Given the description of an element on the screen output the (x, y) to click on. 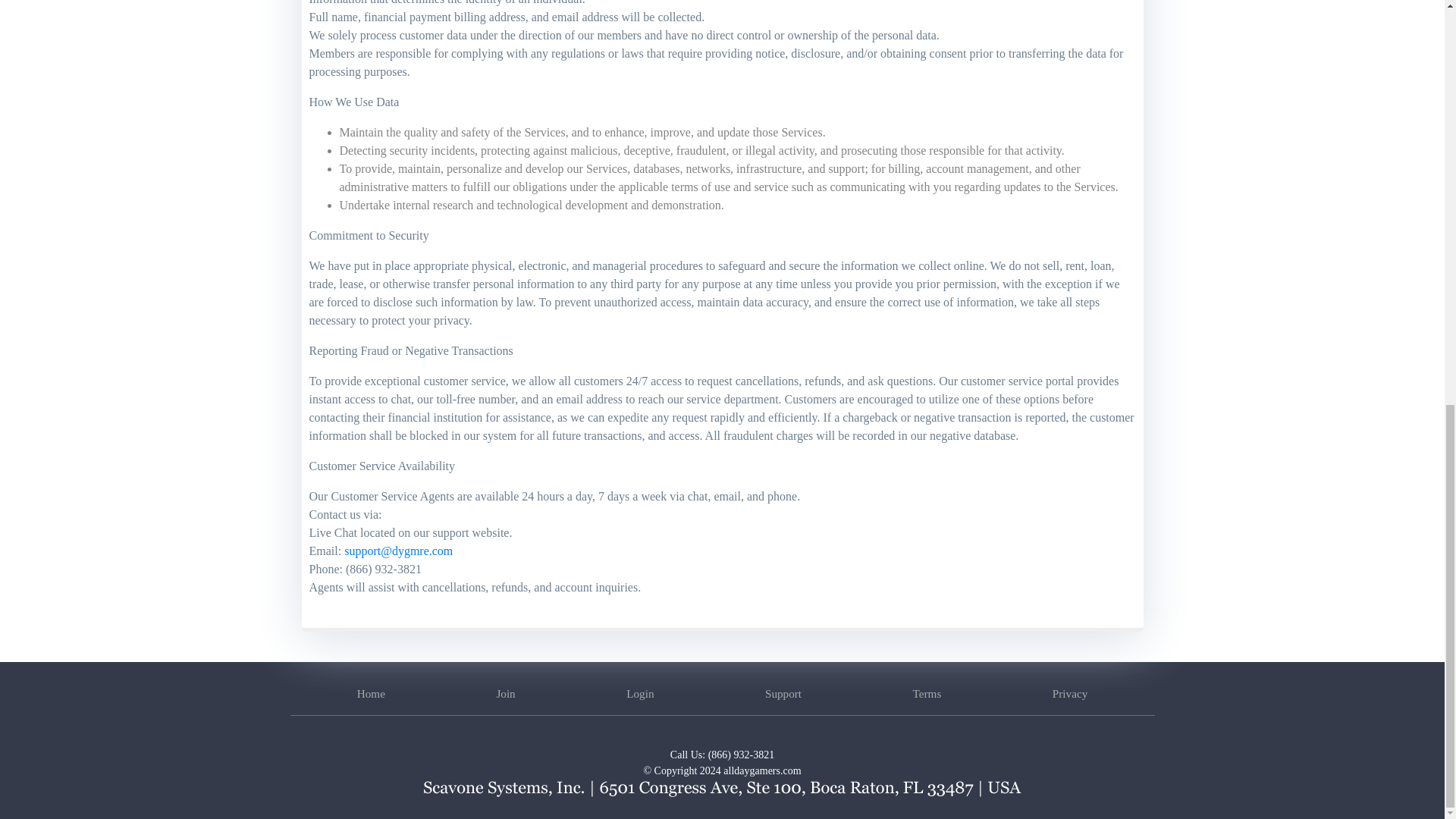
Login (639, 693)
Terms (927, 693)
Home (370, 693)
Support (783, 693)
Join (505, 693)
Privacy (1069, 693)
